Given the description of an element on the screen output the (x, y) to click on. 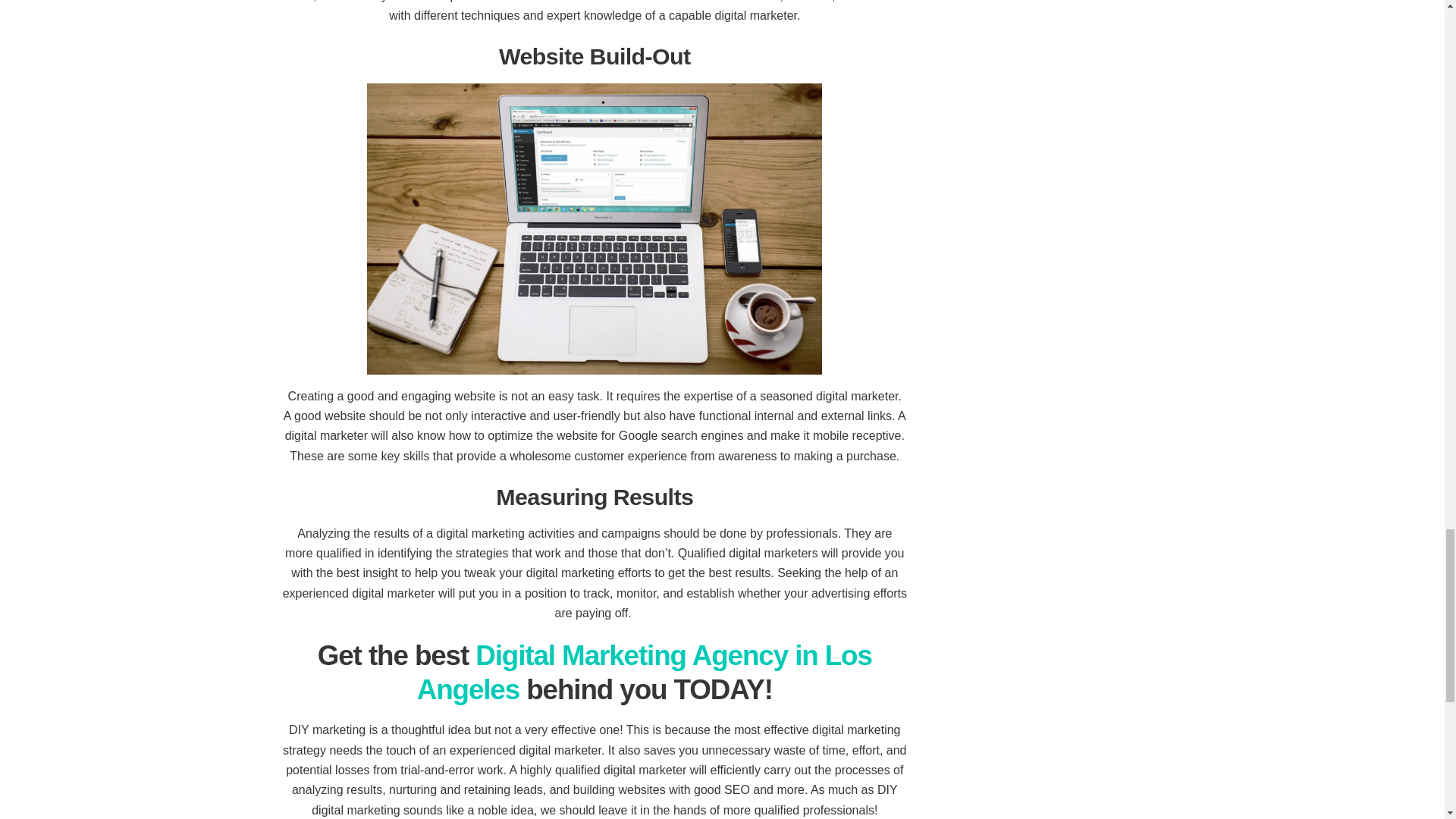
Digital Marketing Agency in Los Angeles (644, 671)
